Given the description of an element on the screen output the (x, y) to click on. 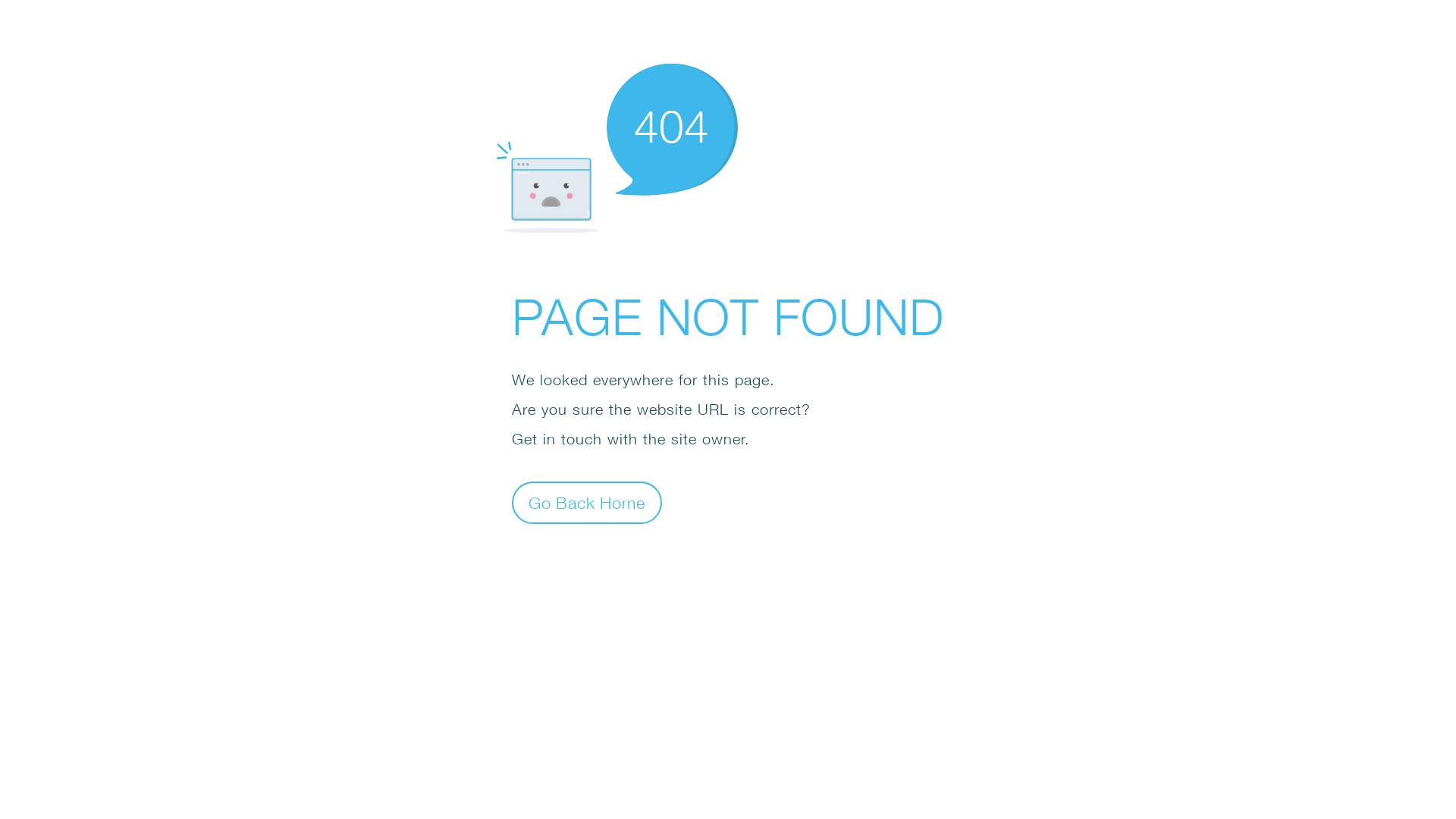
Go Back Home Element type: text (586, 502)
